Given the description of an element on the screen output the (x, y) to click on. 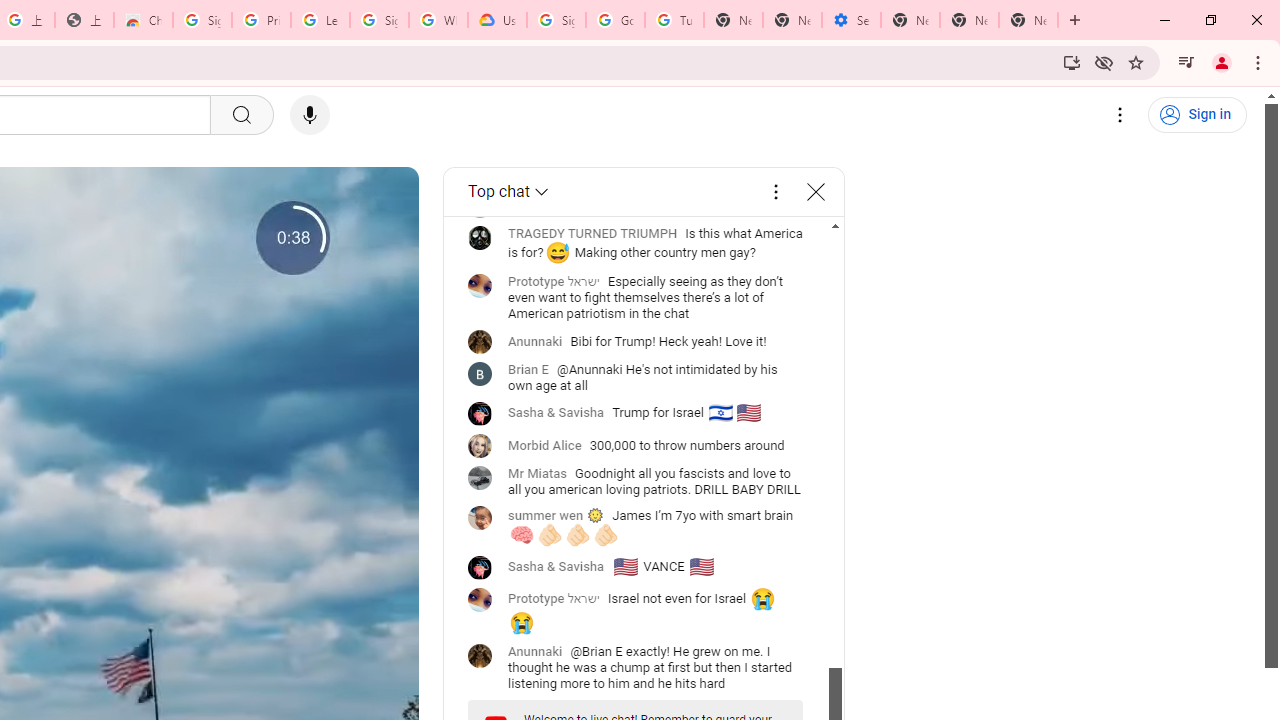
New Tab (909, 20)
Settings - Addresses and more (850, 20)
Search with your voice (309, 115)
Install YouTube (1071, 62)
More options (775, 191)
Sign in - Google Accounts (556, 20)
Chrome Web Store (142, 20)
New Tab (1028, 20)
